Given the description of an element on the screen output the (x, y) to click on. 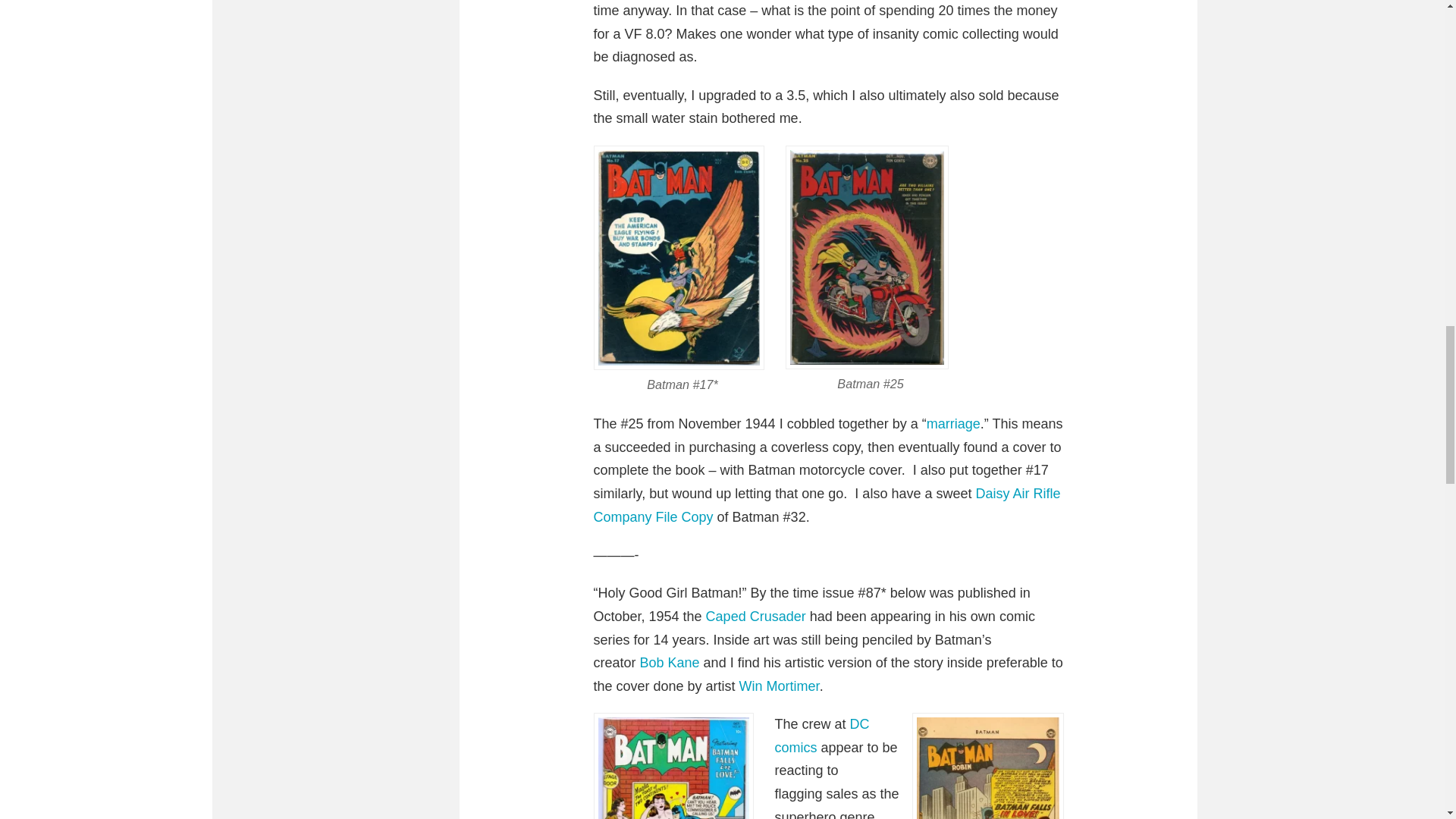
DC comics (821, 735)
Bob Kane (670, 662)
marriage (952, 423)
Win Mortimer (779, 685)
Daisy Air Rifle Company File Copy (825, 505)
DC Comics (821, 735)
Bob Kane (670, 662)
Caped Crusader (756, 616)
Win Mortimer (779, 685)
